Given the description of an element on the screen output the (x, y) to click on. 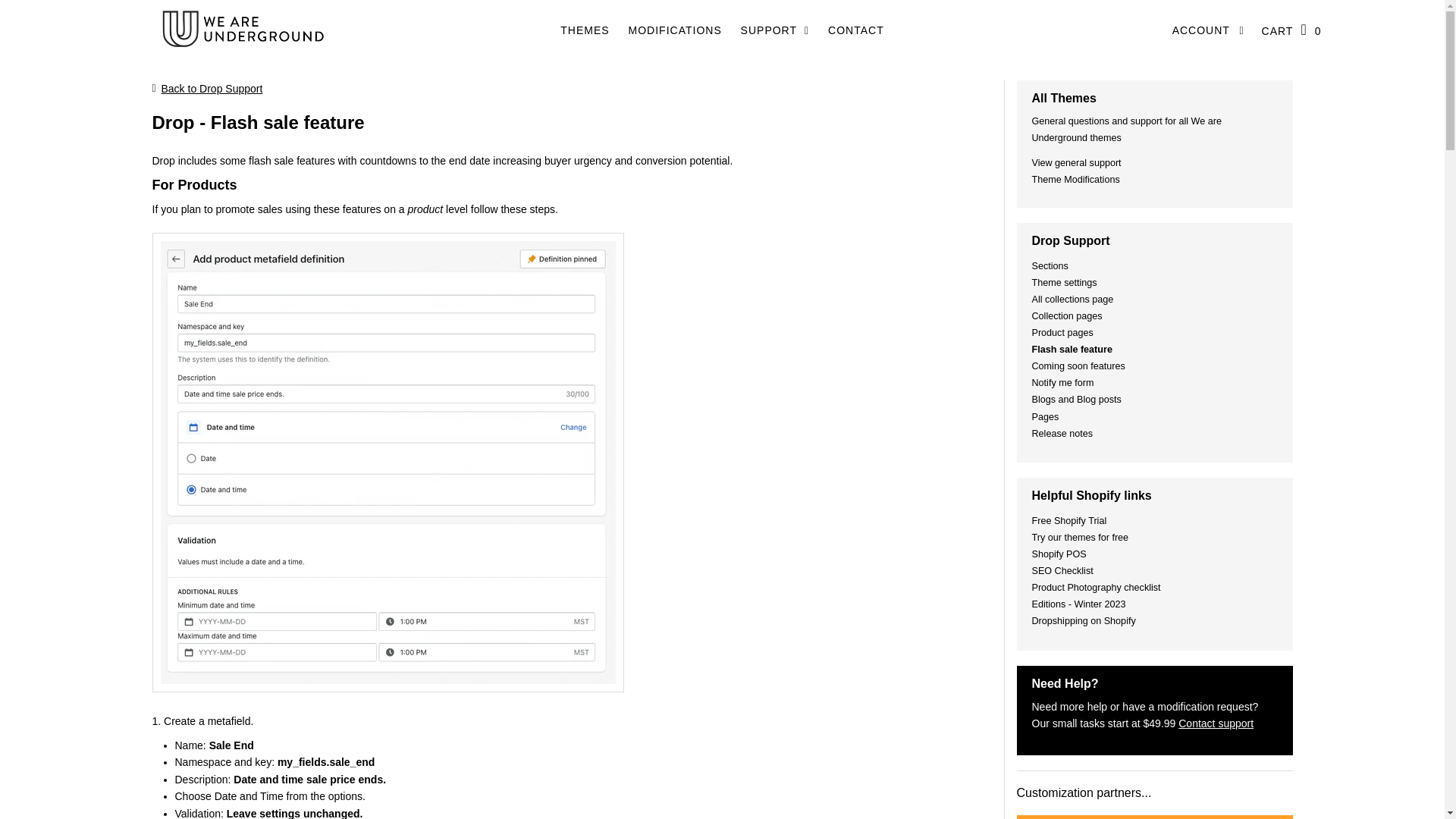
THEMES (584, 30)
MODIFICATIONS (675, 30)
SUPPORT (774, 30)
